Given the description of an element on the screen output the (x, y) to click on. 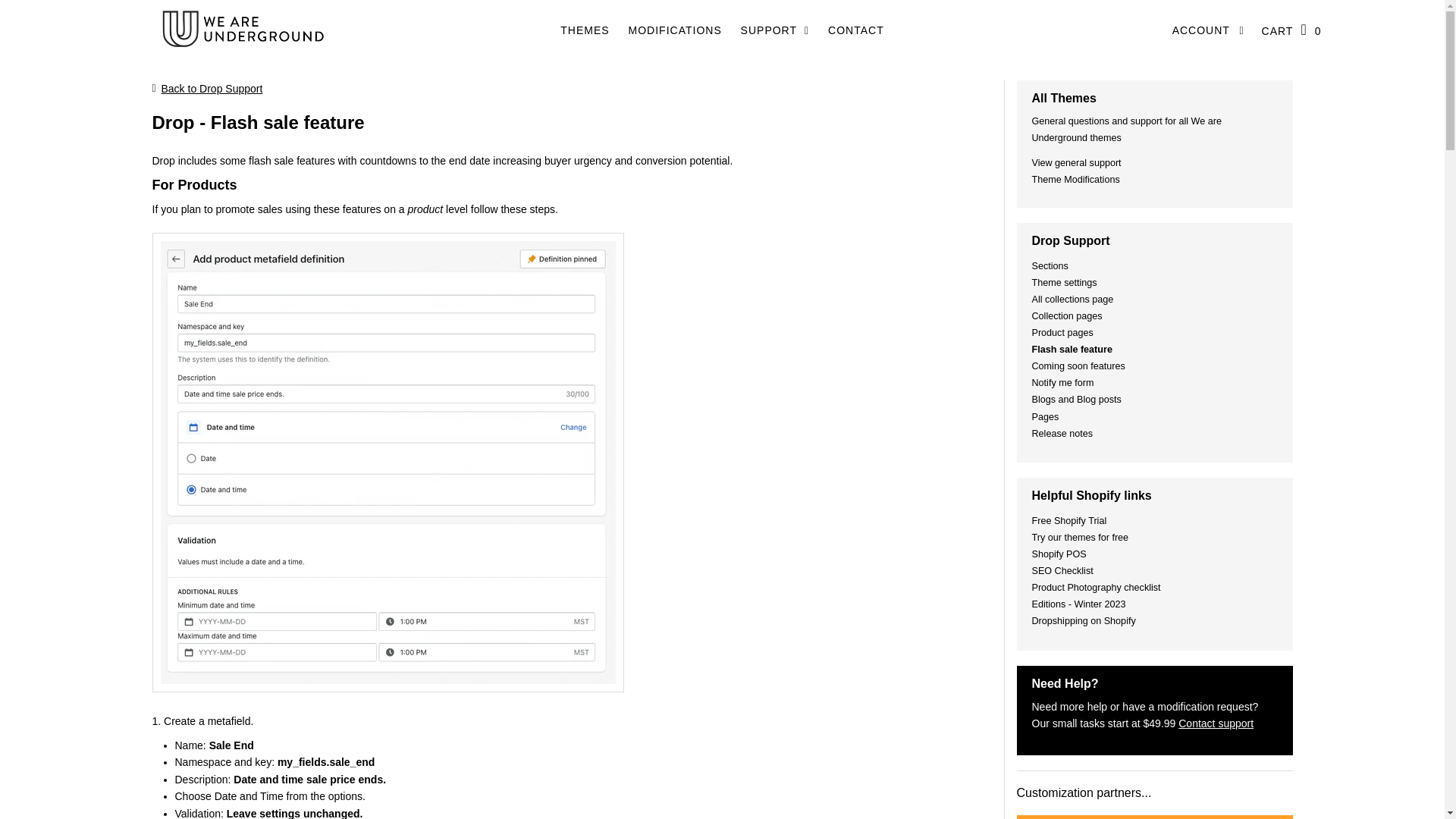
THEMES (584, 30)
MODIFICATIONS (675, 30)
SUPPORT (774, 30)
